Given the description of an element on the screen output the (x, y) to click on. 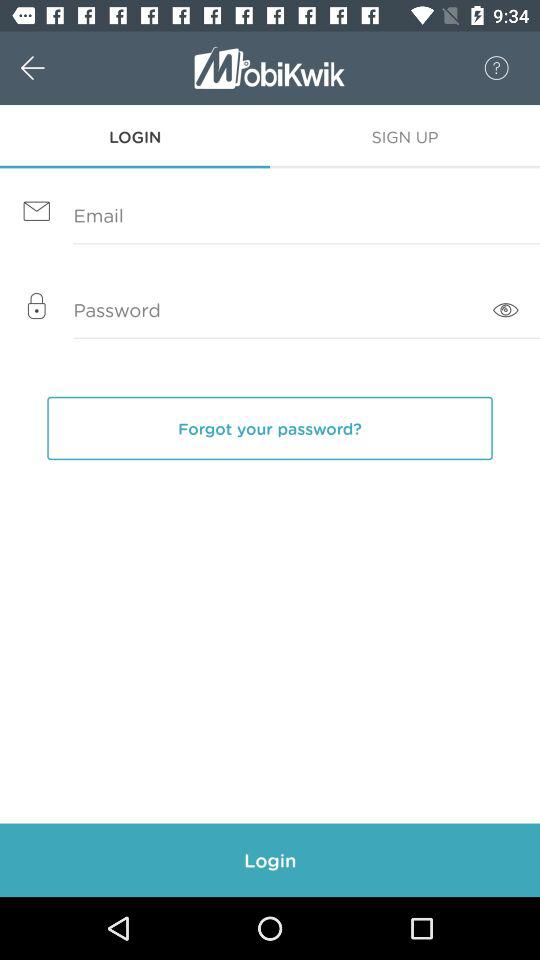
select w (54, 68)
